Given the description of an element on the screen output the (x, y) to click on. 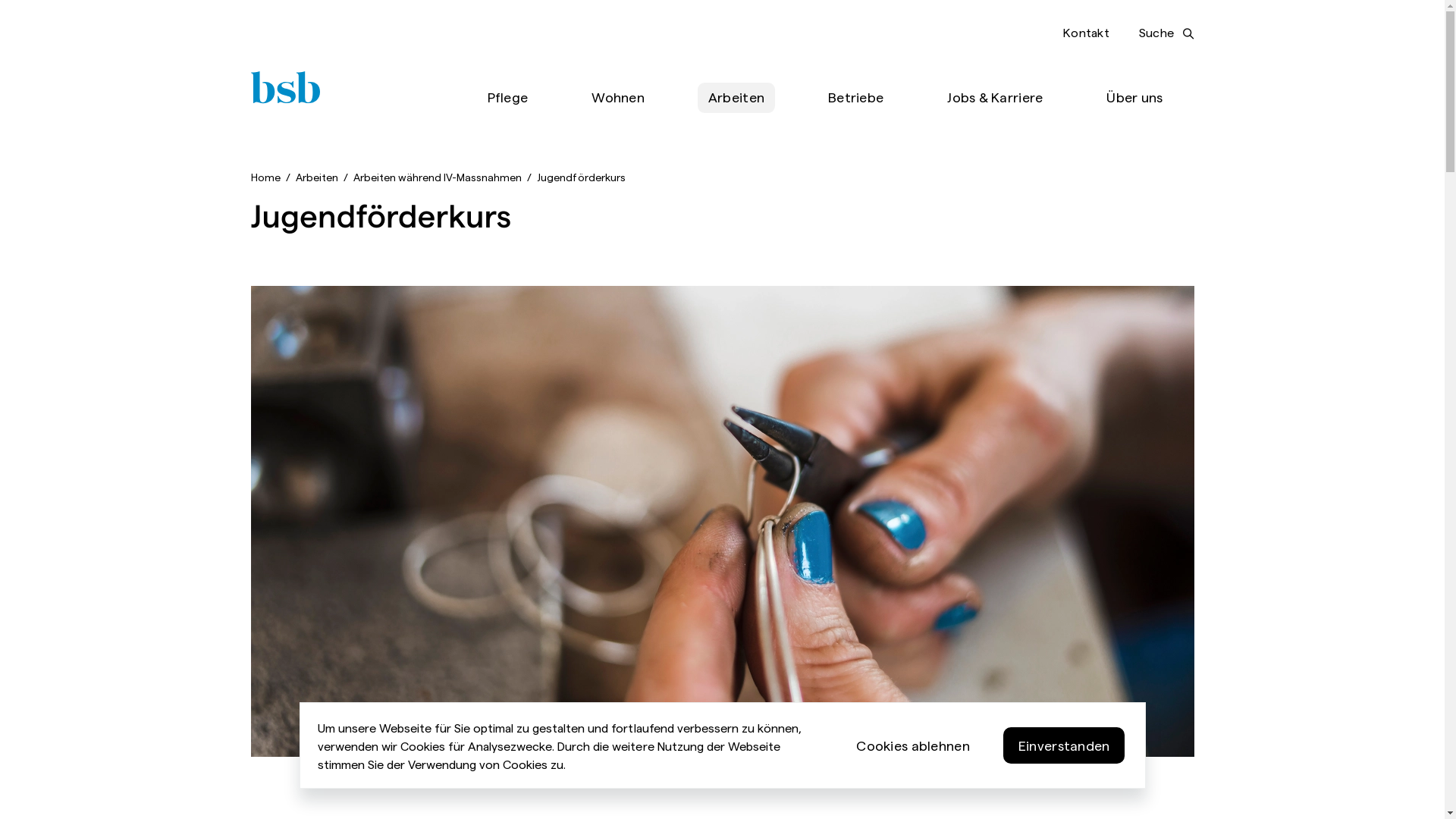
Mitarbeiterin am Draht formen Element type: hover (721, 520)
Jobs & Karriere Element type: text (994, 97)
Cookies ablehnen Element type: text (912, 745)
Kontakt Element type: text (1086, 31)
Einverstanden Element type: text (1064, 745)
Arbeiten Element type: text (316, 176)
Betriebe Element type: text (855, 97)
Suche Element type: text (1166, 32)
Arbeiten Element type: text (736, 97)
Wohnen Element type: text (617, 97)
Home Element type: text (264, 176)
Pflege Element type: text (507, 97)
